Given the description of an element on the screen output the (x, y) to click on. 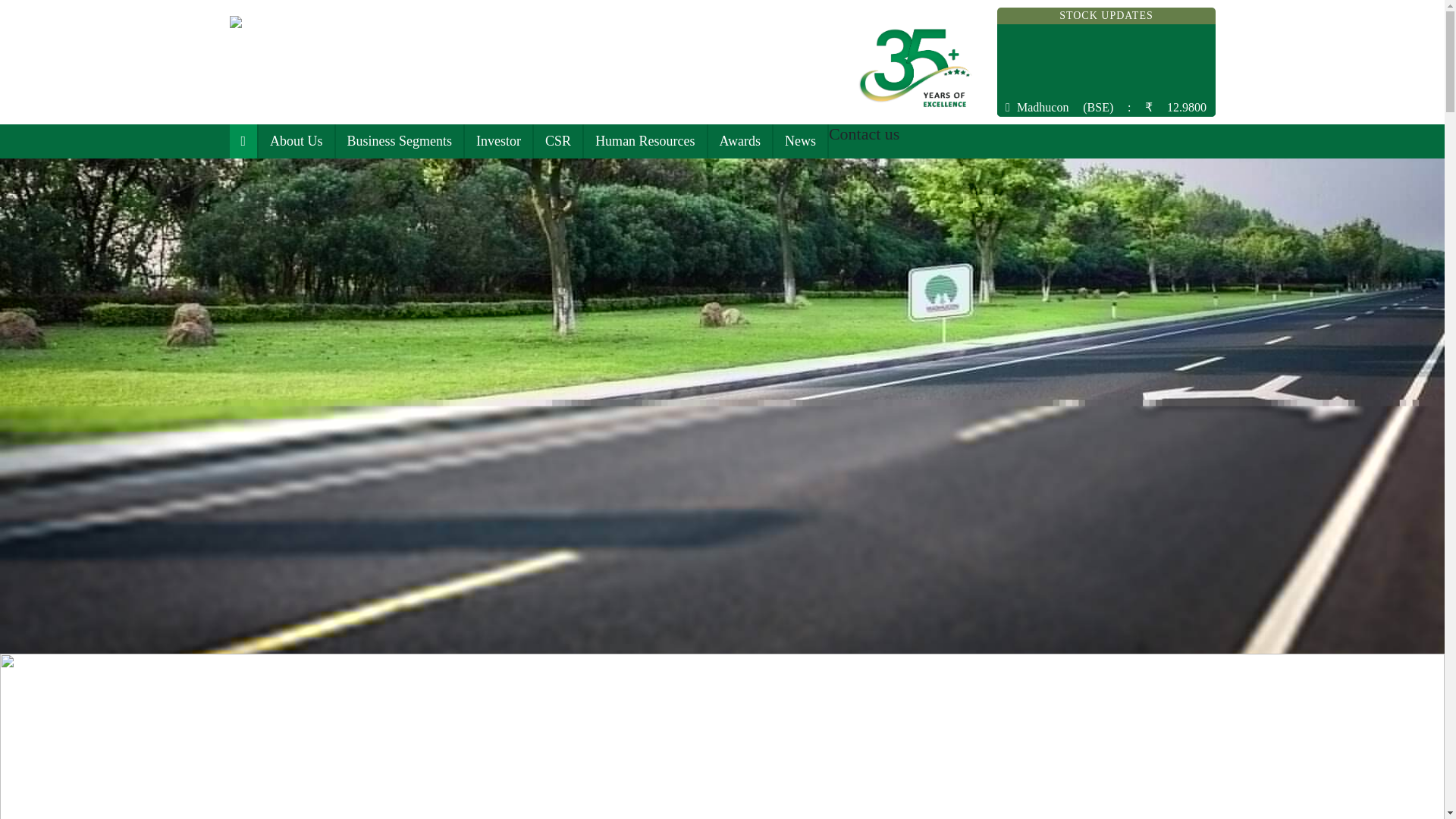
About Us (296, 141)
Investor (498, 141)
Business Segments (400, 141)
